Given the description of an element on the screen output the (x, y) to click on. 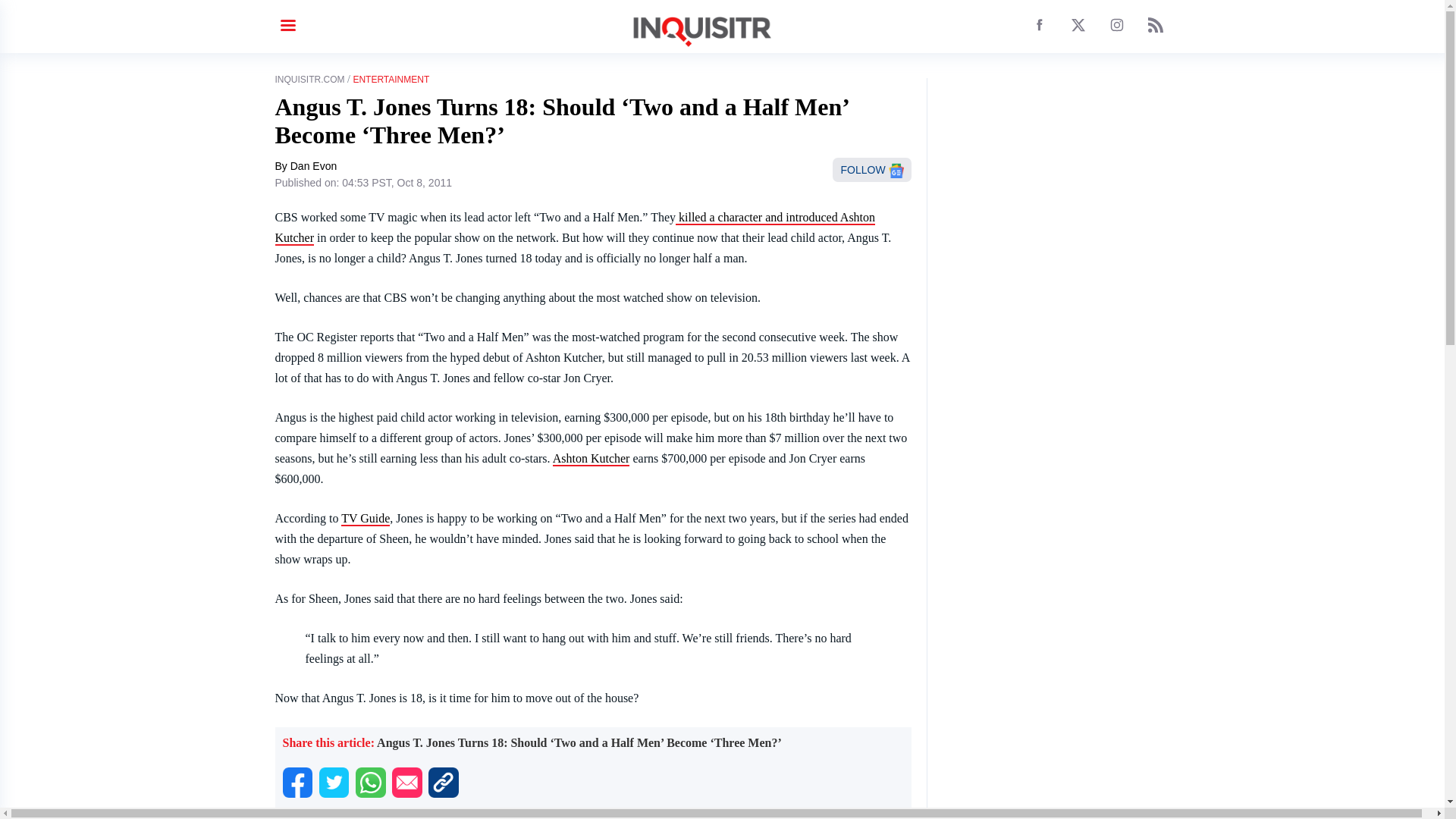
tv guide (365, 518)
ENTERTAINMENT (390, 79)
INQUISITR.COM (309, 79)
Rumor: Ashton Kutcher Cheating on Demi Moore With Sara Leal (591, 459)
